Given the description of an element on the screen output the (x, y) to click on. 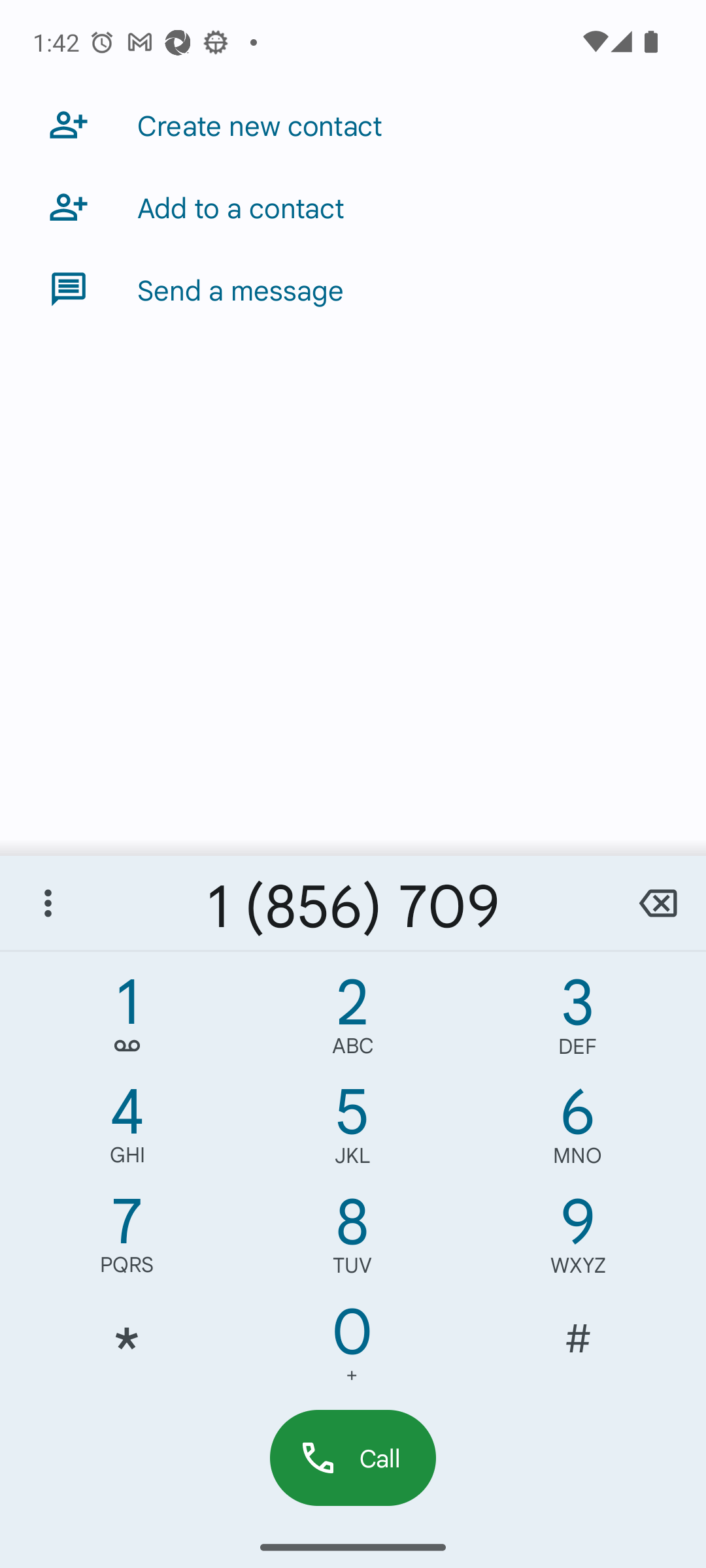
Create new contact (353, 124)
Add to a contact (353, 206)
Send a message (353, 288)
More options (48, 903)
1 (856) 709 (352, 903)
backspace (657, 903)
1, 1 (127, 1020)
2,ABC 2 ABC (352, 1020)
3,DEF 3 DEF (578, 1020)
4,GHI 4 GHI (127, 1130)
5,JKL 5 JKL (352, 1130)
6,MNO 6 MNO (578, 1130)
7,PQRS 7 PQRS (127, 1240)
8,TUV 8 TUV (352, 1240)
9,WXYZ 9 WXYZ (578, 1240)
* (127, 1349)
0 0 + (352, 1349)
# (578, 1349)
Call dial (352, 1457)
